Given the description of an element on the screen output the (x, y) to click on. 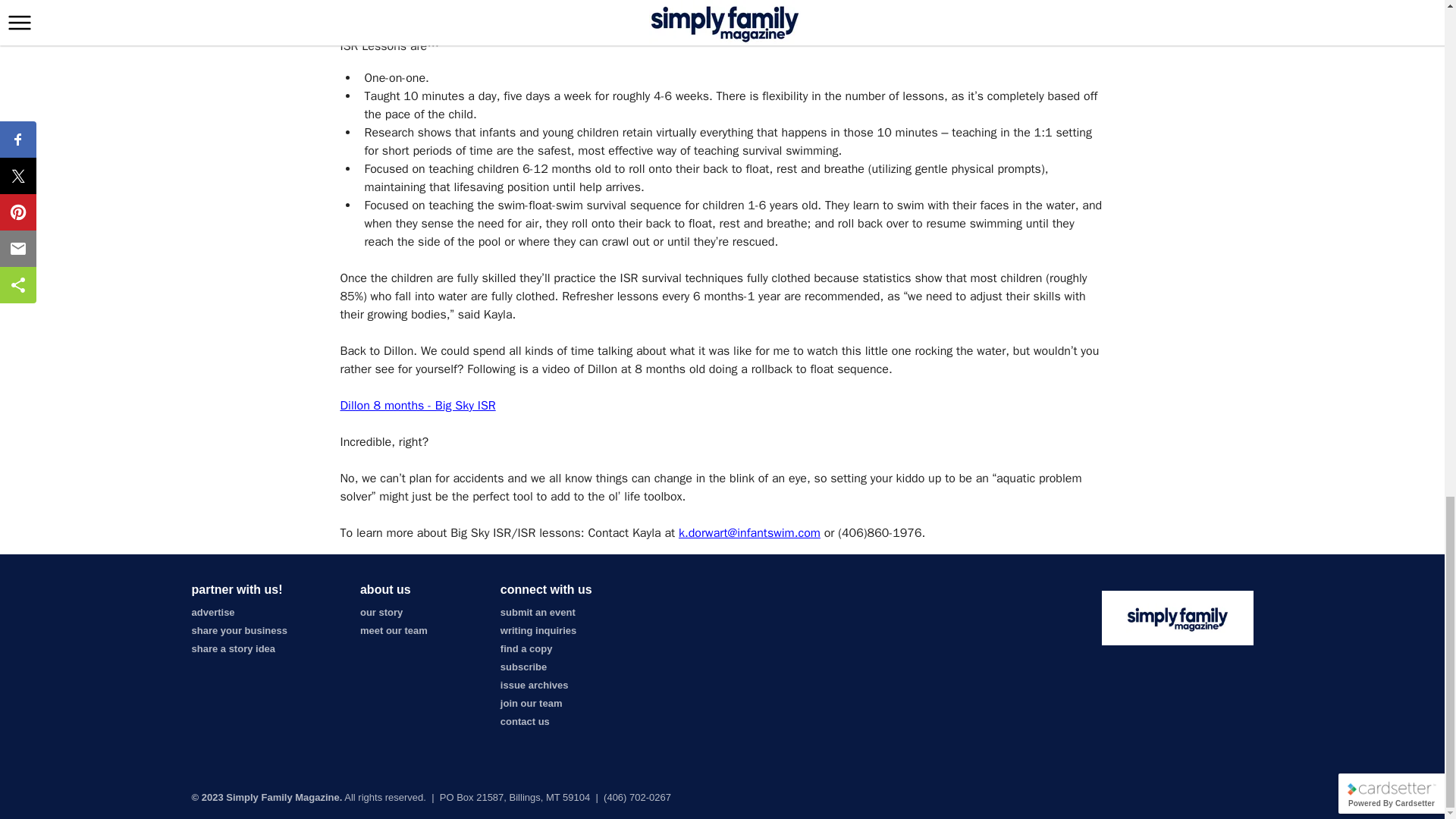
join our team (531, 703)
issue archives (534, 685)
find a copy (526, 648)
our story (381, 612)
share a story idea (232, 648)
writing inquiries (538, 630)
submit an event (537, 612)
meet our team (393, 630)
contact us (525, 721)
advertise (212, 612)
Dillon 8 months - Big Sky ISR (417, 405)
share your business (238, 630)
subscribe (523, 666)
